Given the description of an element on the screen output the (x, y) to click on. 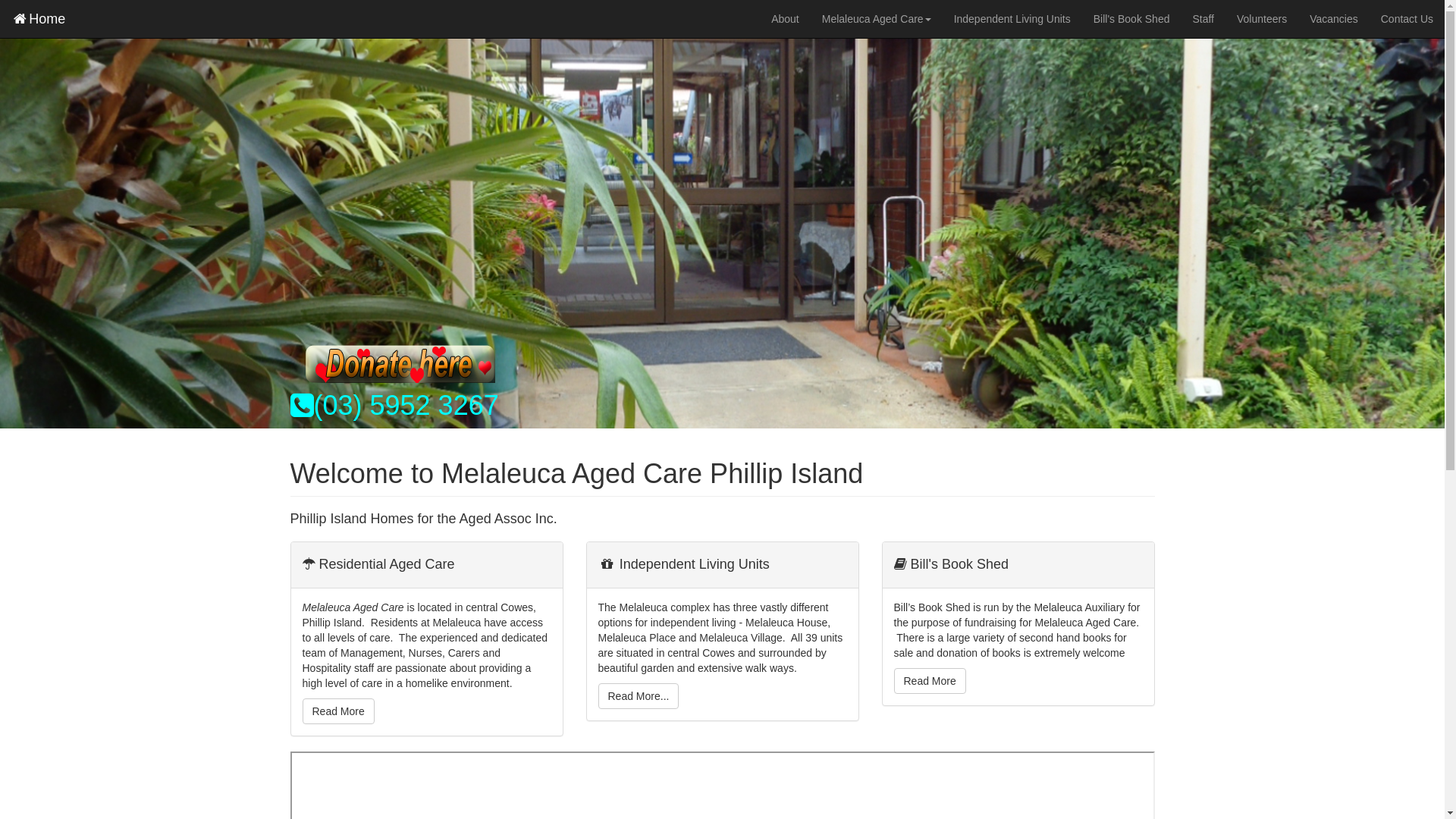
Bill's Book Shed Element type: text (1131, 18)
Home Element type: text (38, 18)
Staff Element type: text (1202, 18)
Melaleuca Aged Care Element type: text (876, 18)
Vacancies Element type: text (1333, 18)
Read More... Element type: text (637, 696)
Volunteers Element type: text (1261, 18)
Contact Us Element type: text (1406, 18)
Read More Element type: text (929, 680)
About Element type: text (784, 18)
Independent Living Units Element type: text (1012, 18)
Read More Element type: text (337, 711)
